Given the description of an element on the screen output the (x, y) to click on. 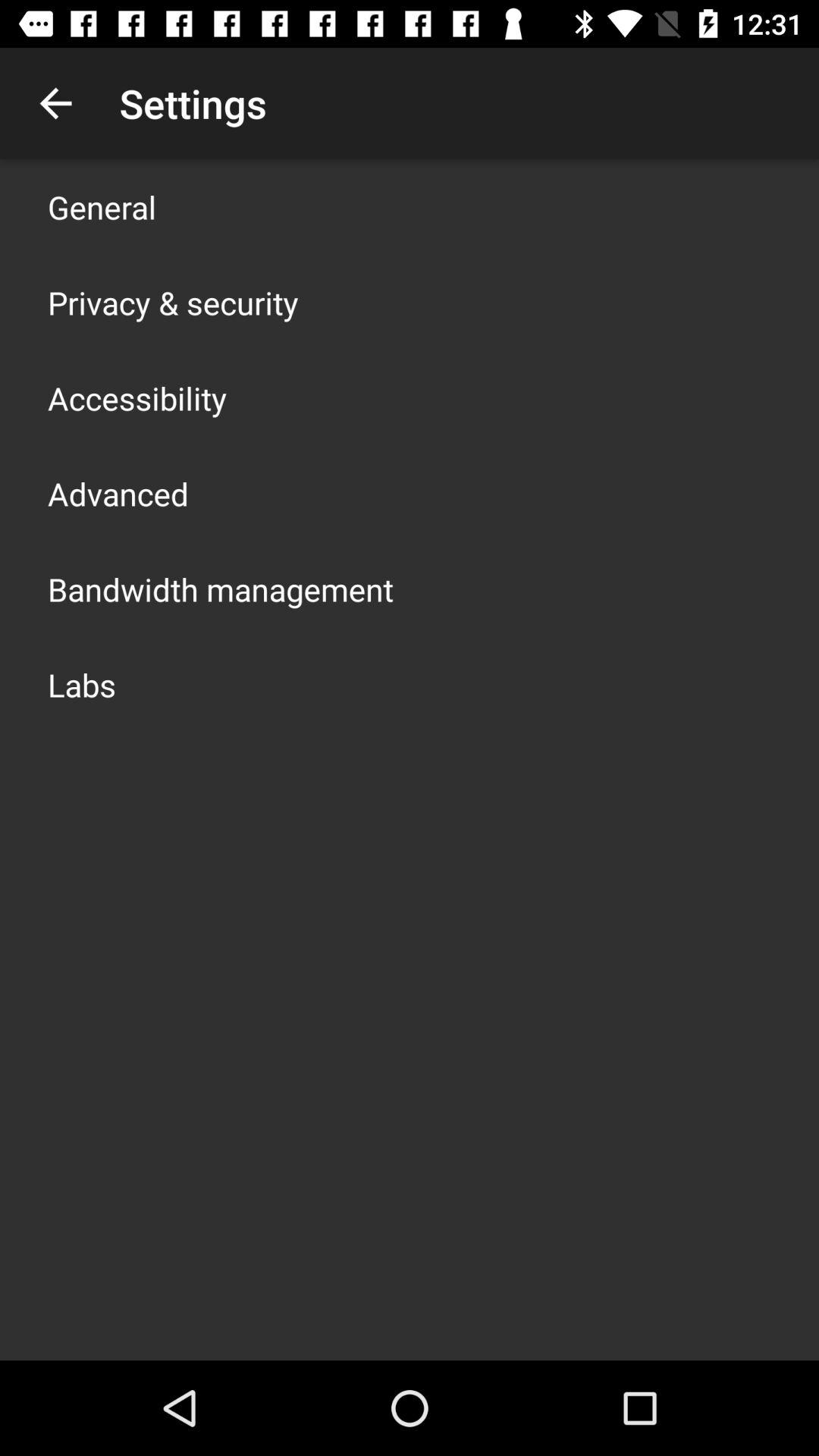
turn off the item below accessibility icon (117, 493)
